Given the description of an element on the screen output the (x, y) to click on. 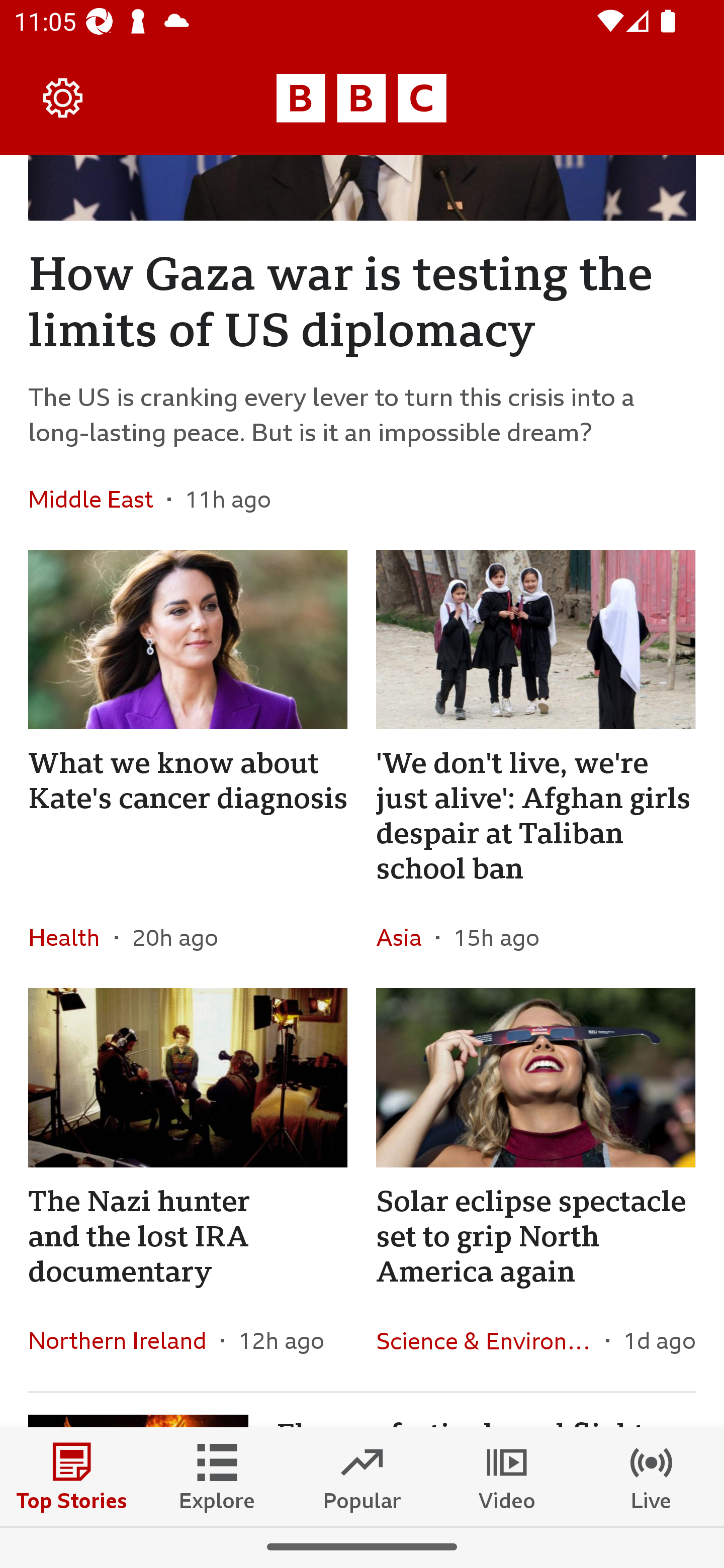
Settings (63, 97)
Middle East In the section Middle East (97, 499)
Health In the section Health (71, 936)
Asia In the section Asia (405, 936)
Northern Ireland In the section Northern Ireland (124, 1339)
Explore (216, 1475)
Popular (361, 1475)
Video (506, 1475)
Live (651, 1475)
